Given the description of an element on the screen output the (x, y) to click on. 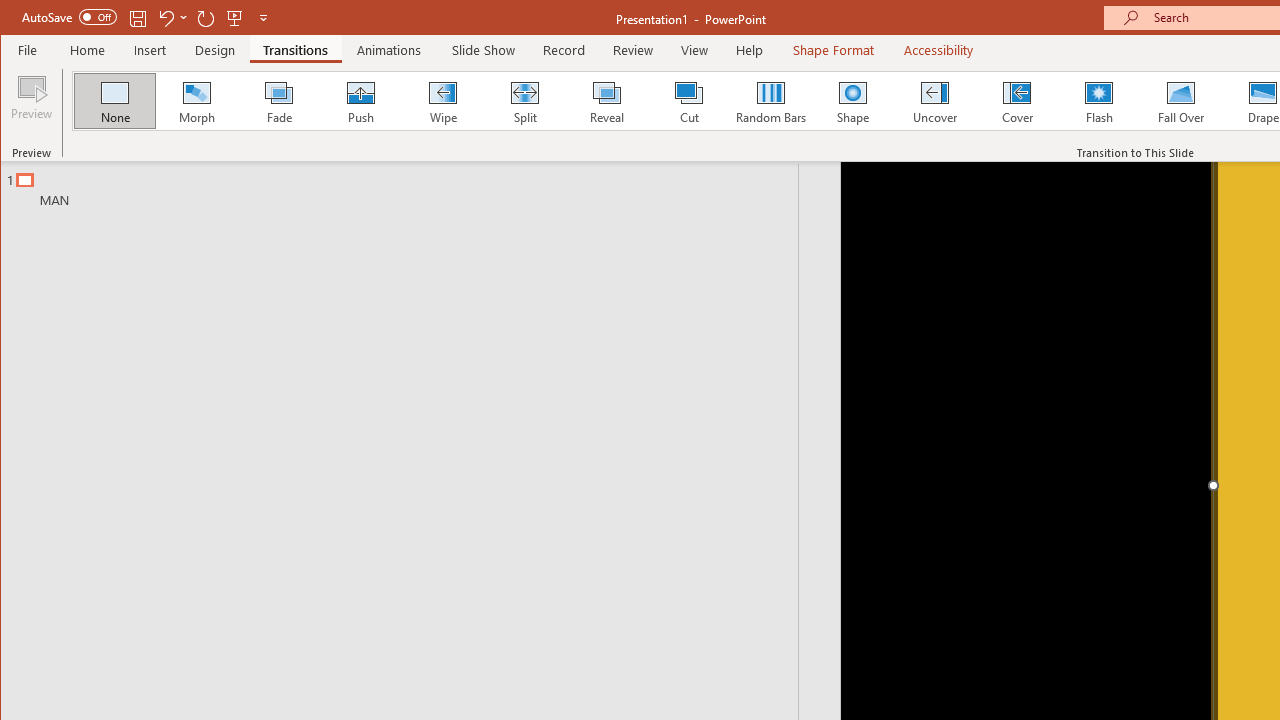
Split (524, 100)
Reveal (606, 100)
Shape (852, 100)
Random Bars (770, 100)
Wipe (442, 100)
Fall Over (1181, 100)
